Given the description of an element on the screen output the (x, y) to click on. 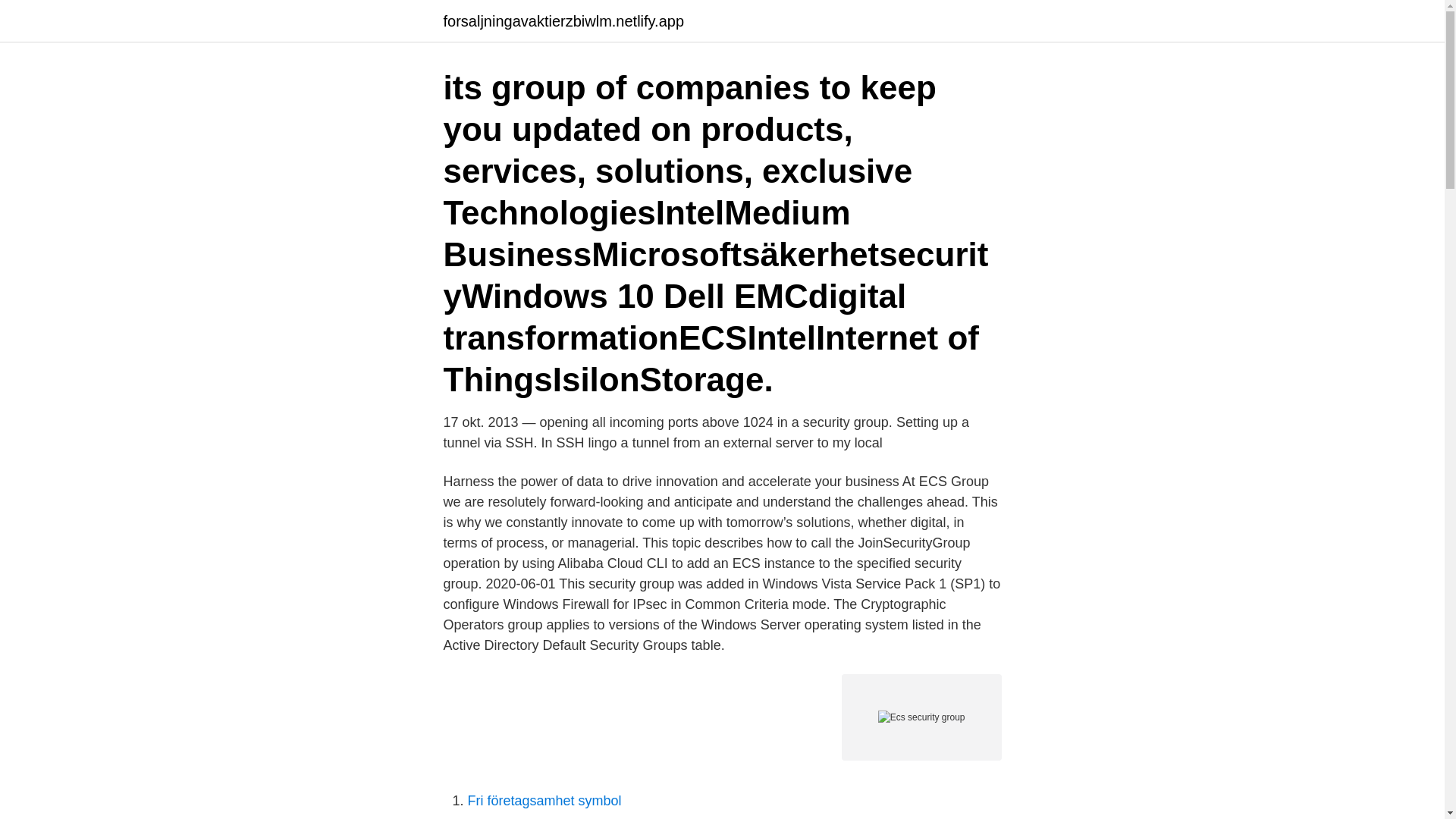
forsaljningavaktierzbiwlm.netlify.app (563, 20)
